Given the description of an element on the screen output the (x, y) to click on. 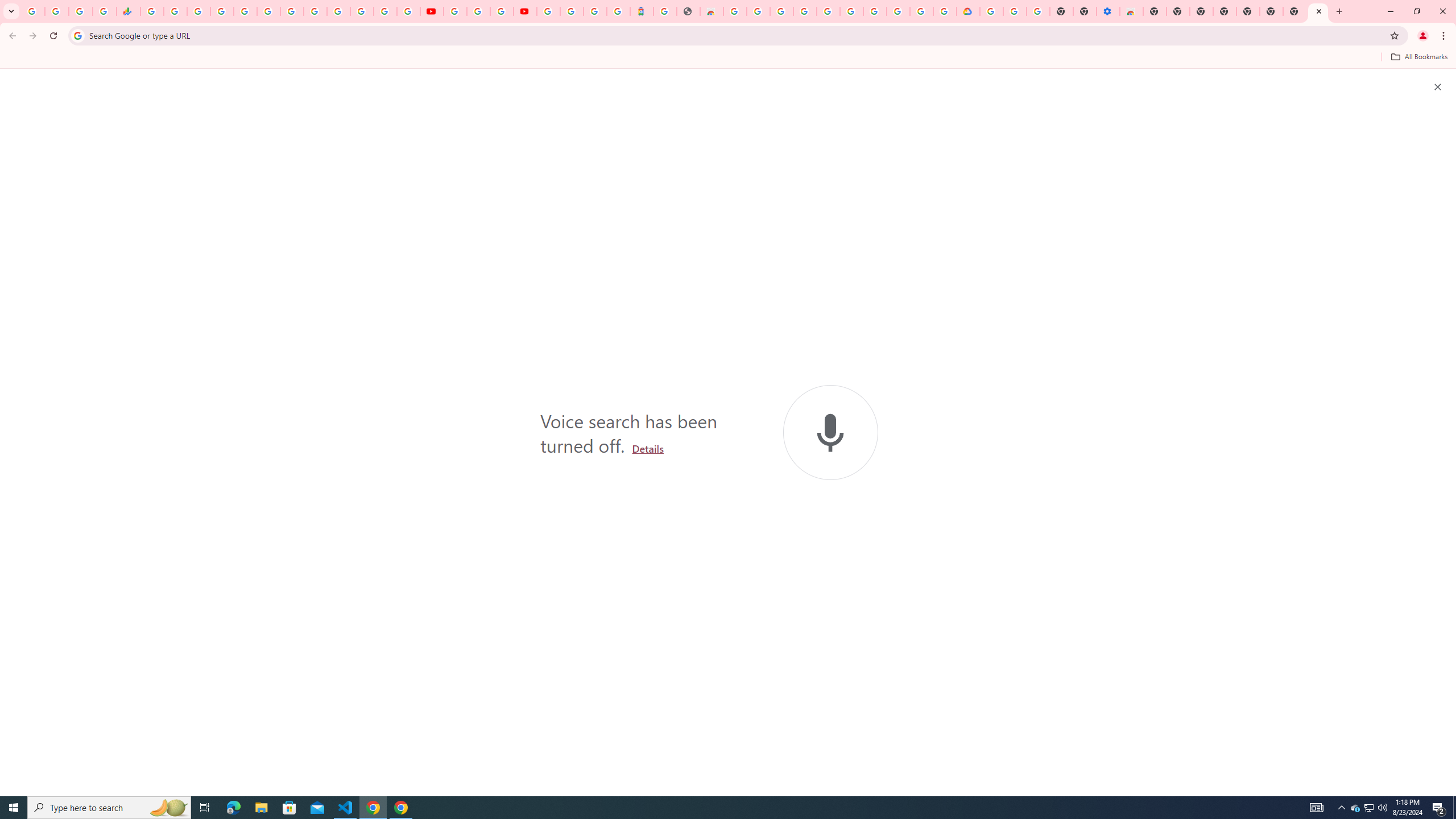
Ad Settings (804, 11)
Create your Google Account (921, 11)
Sign in - Google Accounts (221, 11)
YouTube (431, 11)
Create your Google Account (501, 11)
Sign in - Google Accounts (992, 11)
Chrome Web Store - Accessibility extensions (1131, 11)
